Given the description of an element on the screen output the (x, y) to click on. 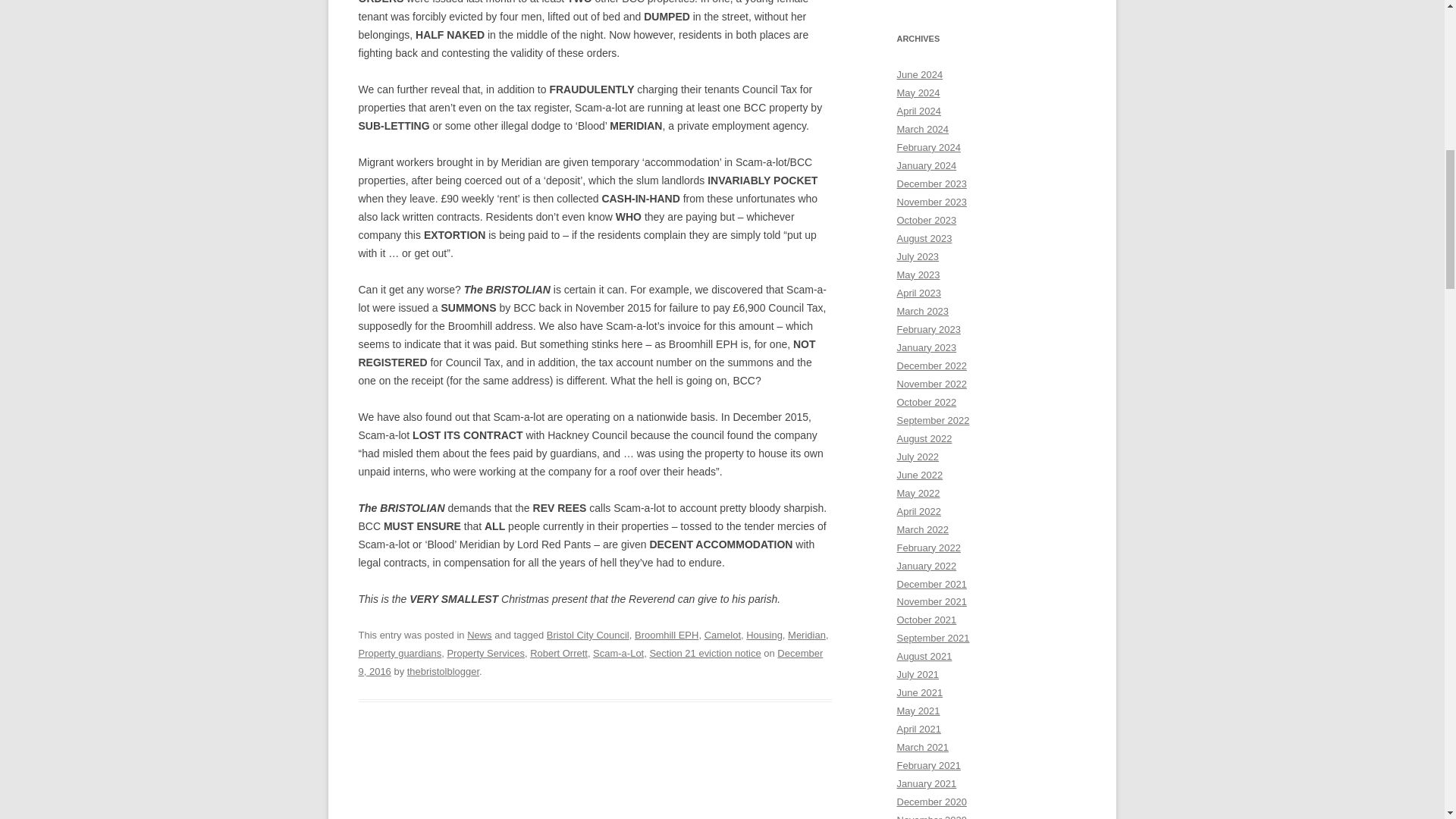
Meridian (806, 634)
Broomhill EPH (666, 634)
News (479, 634)
Camelot (722, 634)
4:10 pm (590, 662)
Housing (764, 634)
View all posts by thebristolblogger (443, 671)
June 2024 (919, 74)
Robert Orrett (558, 653)
Section 21 eviction notice (704, 653)
December 9, 2016 (590, 662)
Property Services (485, 653)
Property guardians (399, 653)
thebristolblogger (443, 671)
Scam-a-Lot (617, 653)
